Given the description of an element on the screen output the (x, y) to click on. 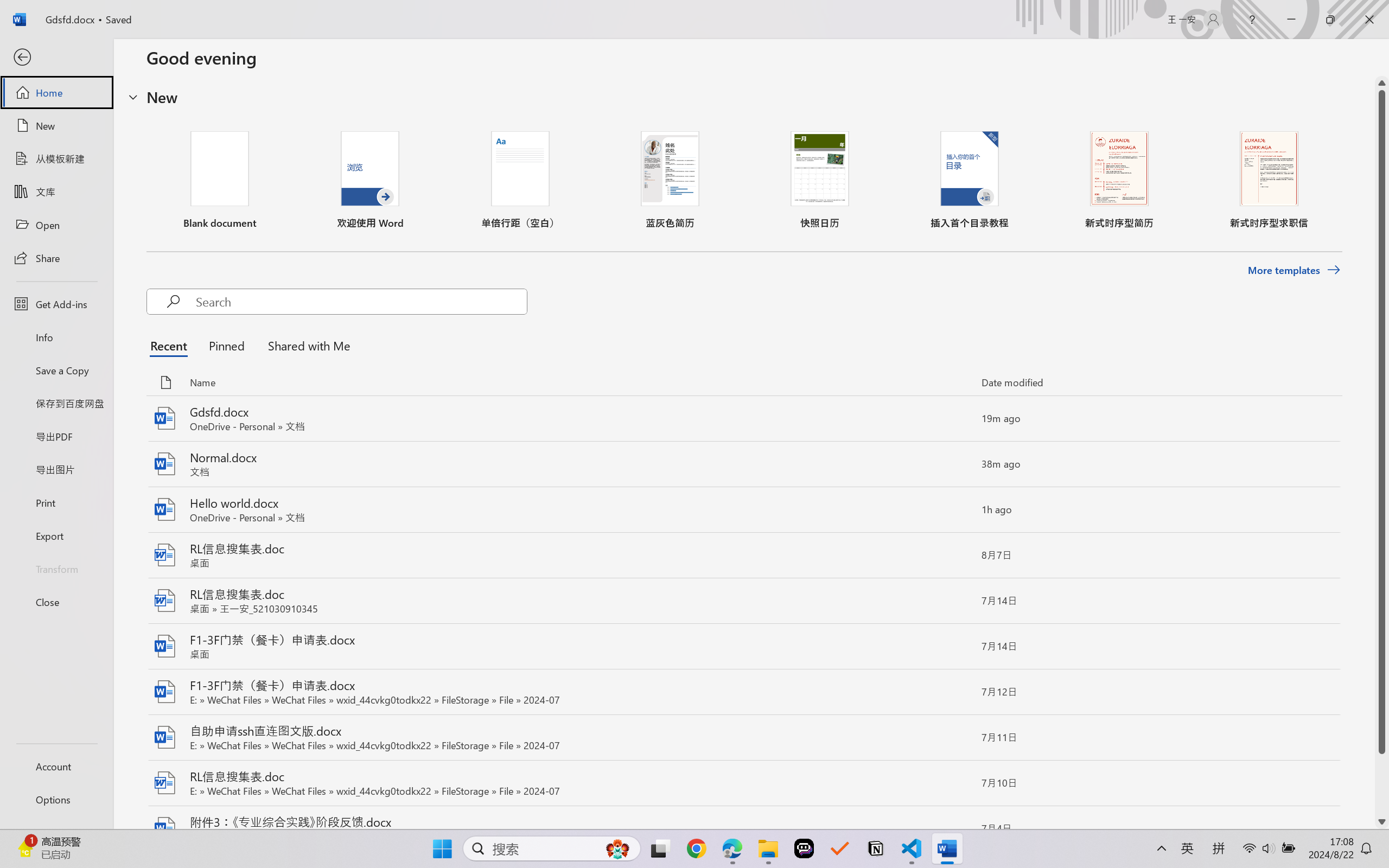
Account (56, 765)
Options (56, 798)
Gdsfd.docx (743, 418)
